Given the description of an element on the screen output the (x, y) to click on. 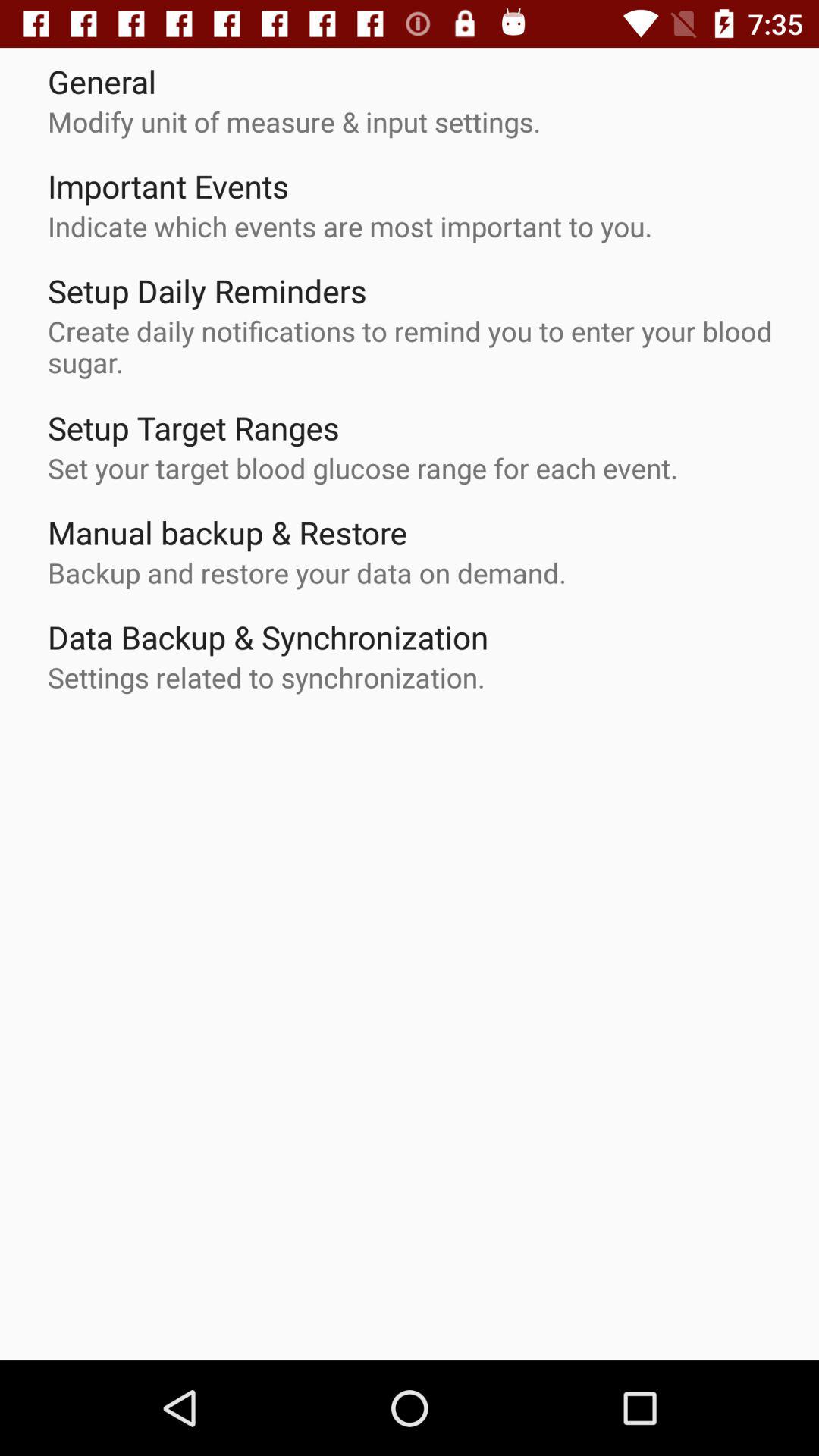
jump until modify unit of icon (293, 121)
